Given the description of an element on the screen output the (x, y) to click on. 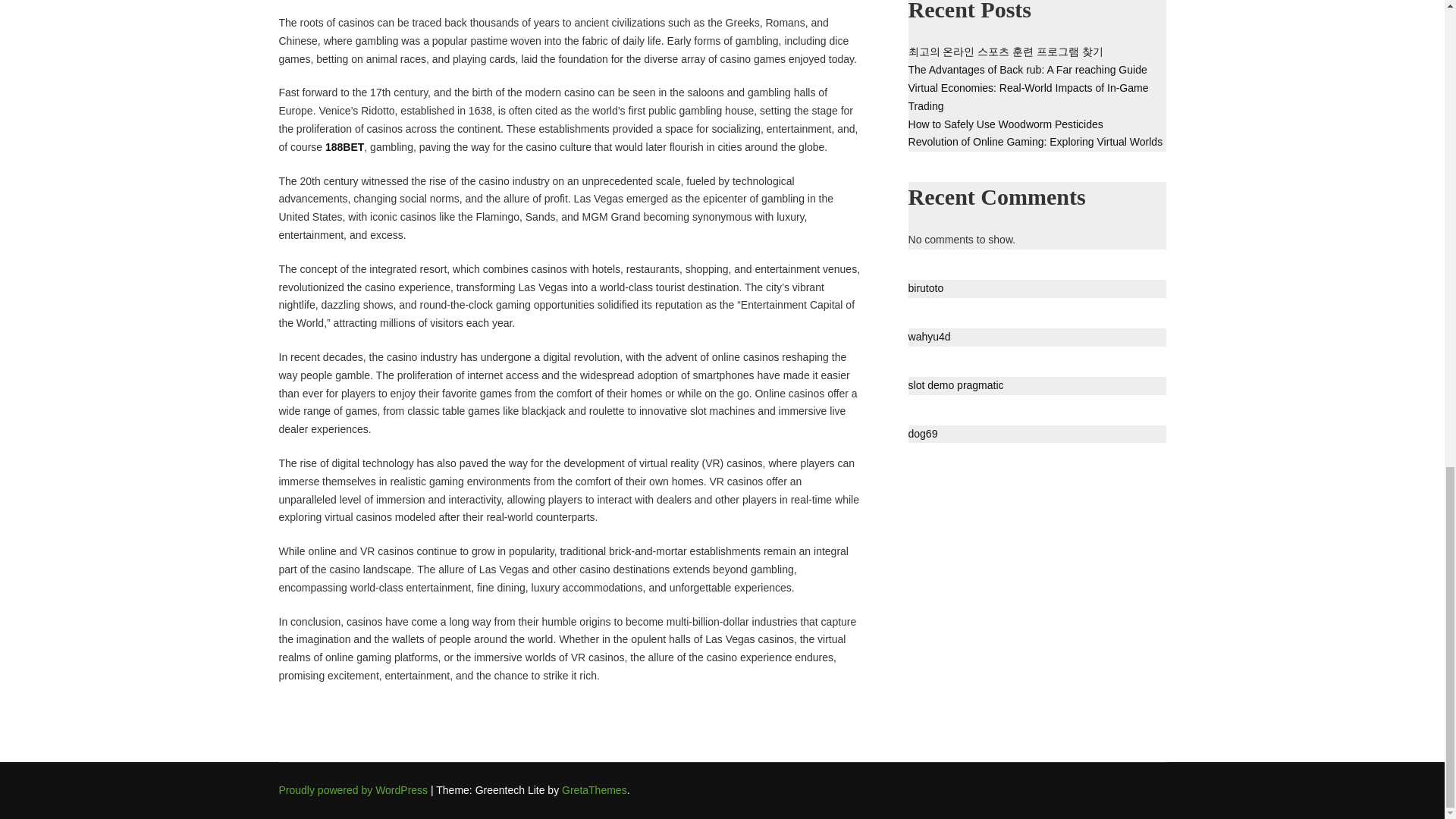
The Advantages of Back rub: A Far reaching Guide (1027, 69)
Virtual Economies: Real-World Impacts of In-Game Trading (1028, 96)
188BET (344, 146)
How to Safely Use Woodworm Pesticides (1005, 123)
